Given the description of an element on the screen output the (x, y) to click on. 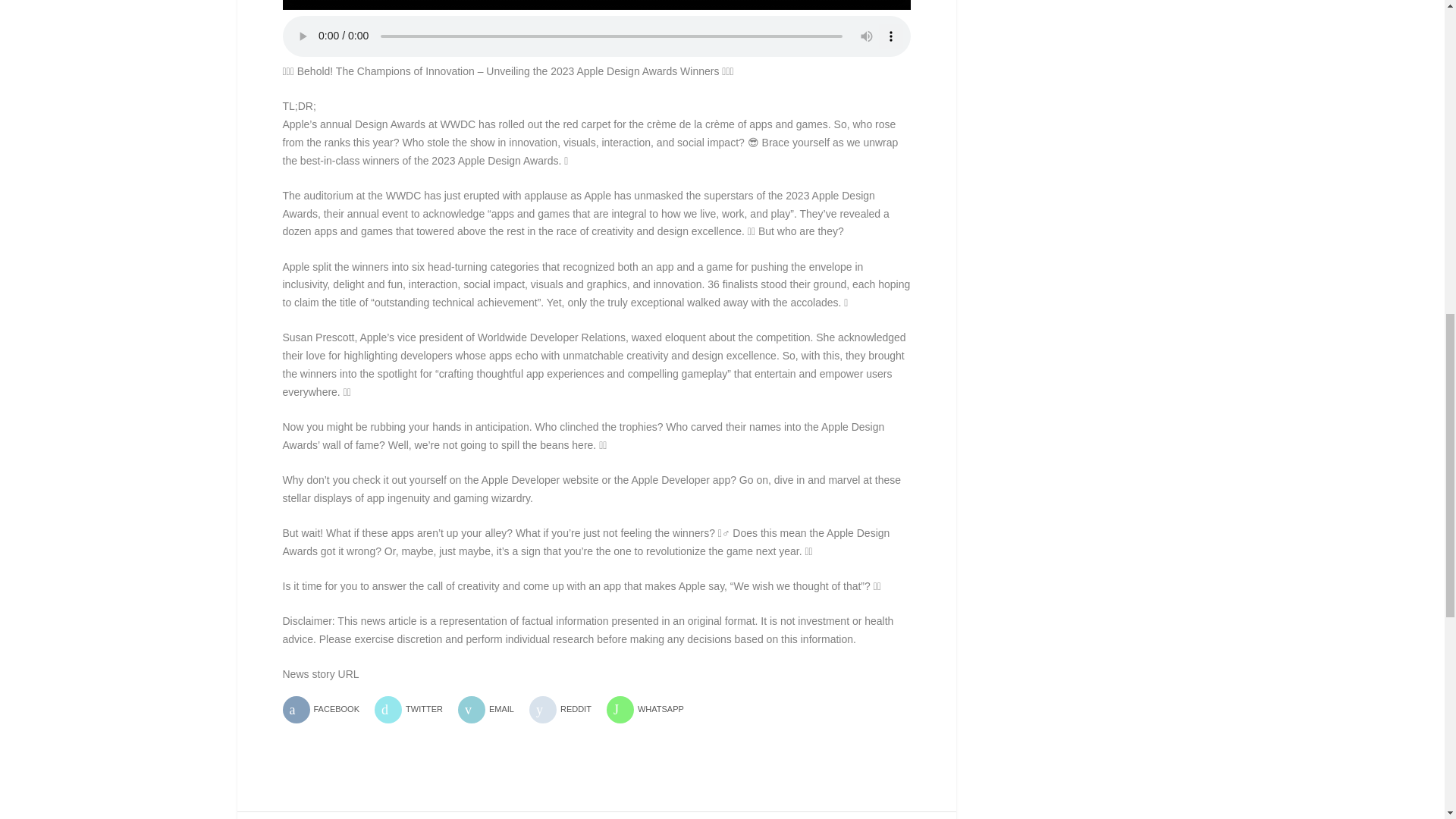
TWITTER (414, 709)
Share on Twitter (414, 709)
Share on Facebook (326, 709)
Share on Reddit (565, 709)
EMAIL (491, 709)
Share on WhatsApp (651, 709)
Share on Email (491, 709)
WHATSAPP (651, 709)
FACEBOOK (326, 709)
REDDIT (565, 709)
